Given the description of an element on the screen output the (x, y) to click on. 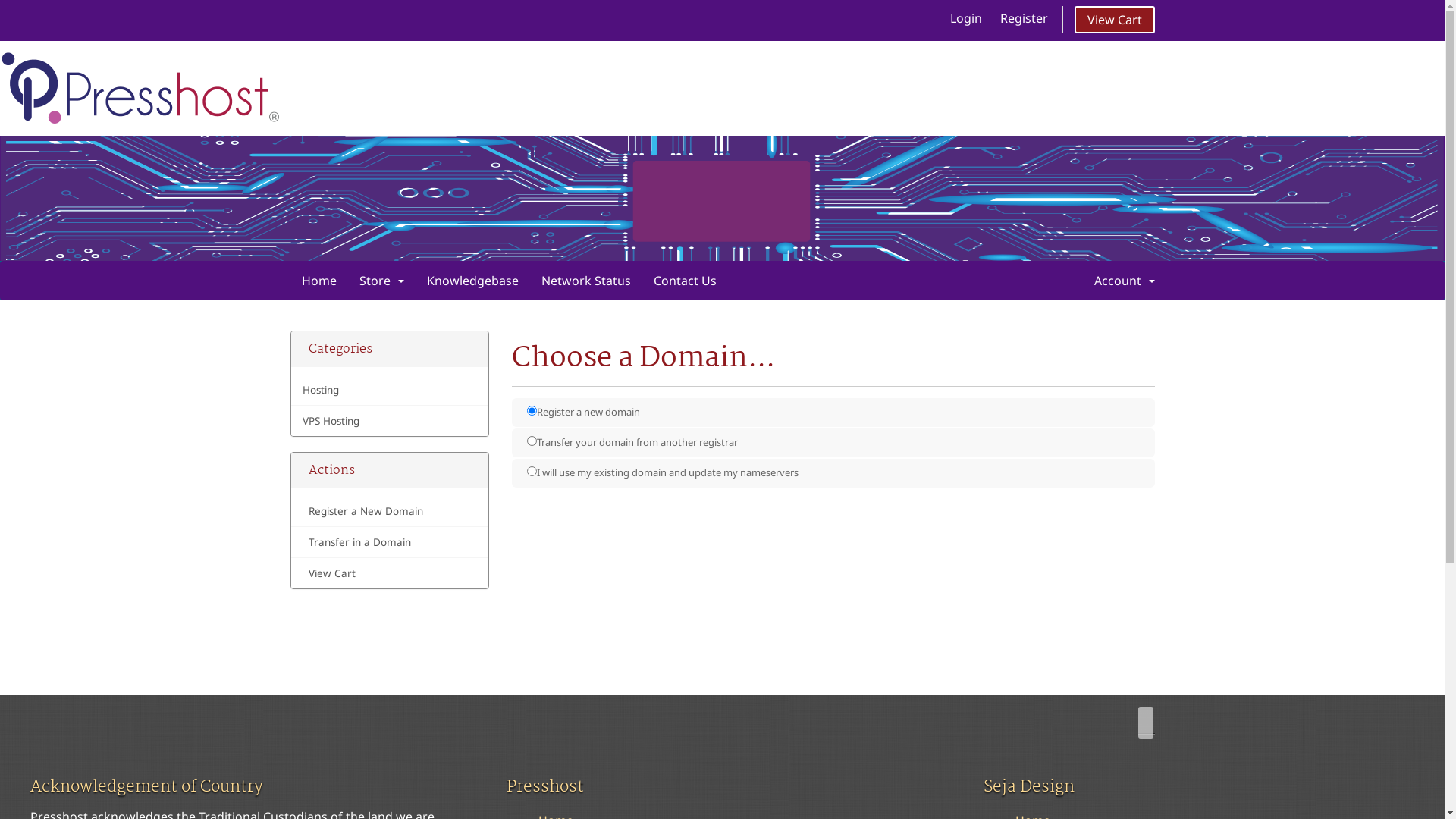
  Register a New Domain Element type: text (390, 511)
Network Status Element type: text (585, 280)
Register Element type: text (1022, 18)
Account   Element type: text (1124, 280)
back to top Element type: text (1144, 723)
  Transfer in a Domain Element type: text (390, 542)
  View Cart Element type: text (390, 573)
Login Element type: text (964, 18)
Store   Element type: text (380, 280)
VPS Hosting Element type: text (390, 420)
View Cart Element type: text (1113, 19)
Contact Us Element type: text (684, 280)
Home Element type: text (318, 280)
Knowledgebase Element type: text (472, 280)
Hosting Element type: text (390, 389)
